Given the description of an element on the screen output the (x, y) to click on. 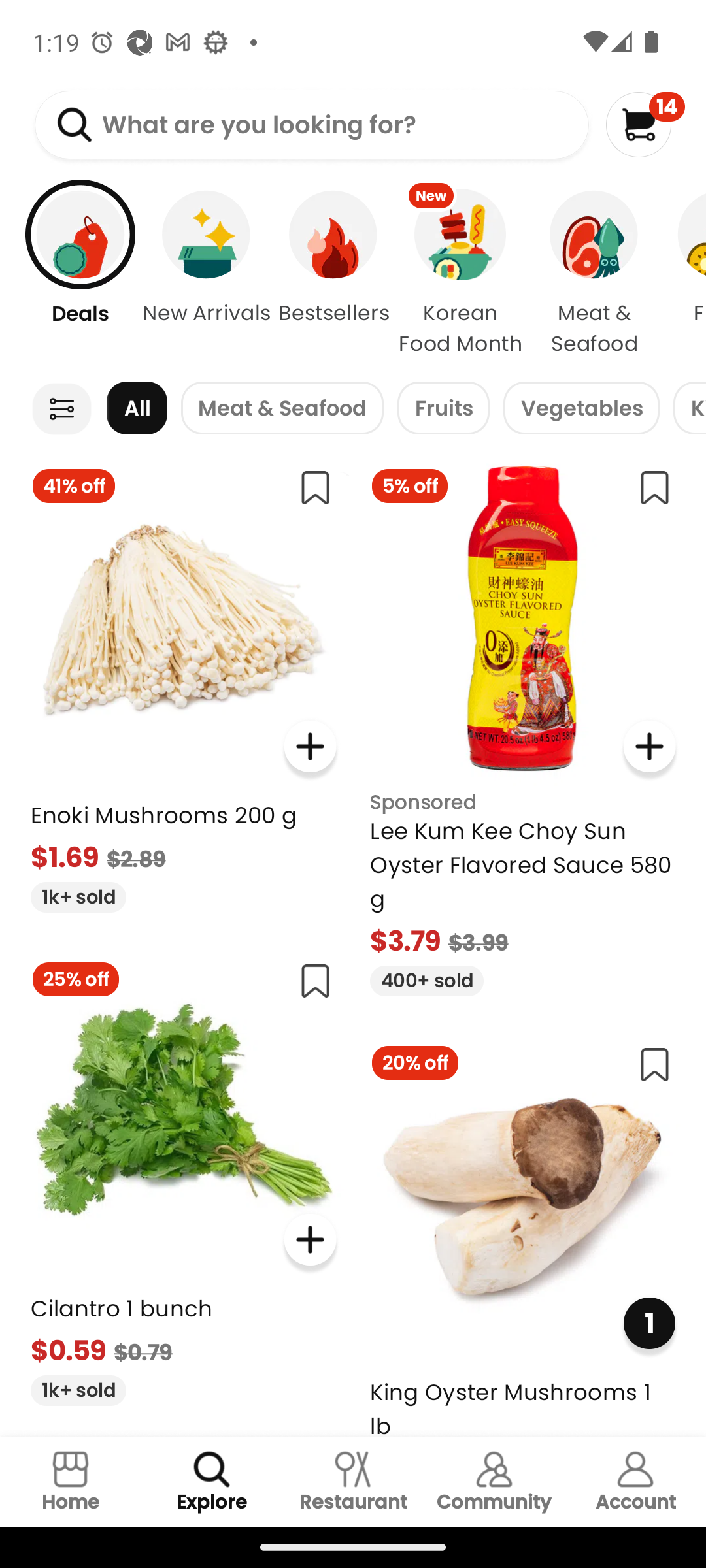
What are you looking for? (311, 124)
14 (644, 124)
Deals (70, 274)
New Arrivals (206, 274)
Bestsellers (333, 274)
New Korean Food Month (460, 274)
Meat & Seafood (594, 274)
All (136, 407)
Meat & Seafood (282, 407)
Fruits (443, 407)
Vegetables (581, 407)
41% off Enoki Mushrooms 200 g $1.69 $2.89 1k+ sold (182, 682)
25% off Cilantro 1 bunch $0.59 $0.79 1k+ sold (182, 1176)
20% off 1 King Oyster Mushrooms 1 lb (522, 1233)
1 (648, 1323)
Home (70, 1482)
Explore (211, 1482)
Restaurant (352, 1482)
Community (493, 1482)
Account (635, 1482)
